Given the description of an element on the screen output the (x, y) to click on. 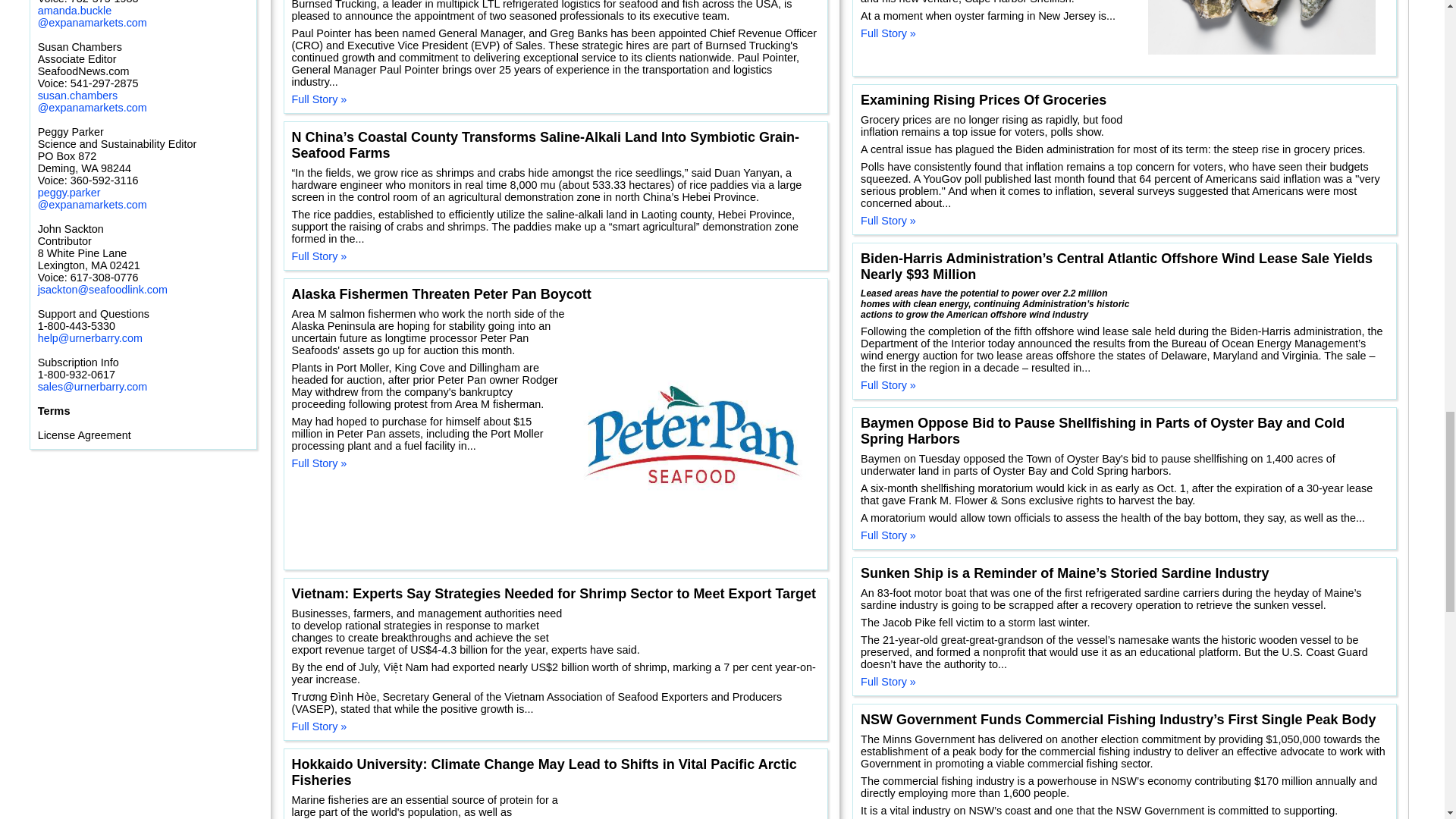
Market Story (224, 268)
Market Story (99, 112)
Market Story (113, 415)
Market Story (111, 552)
Market Story (223, 57)
Market Story (70, 524)
Market Story (173, 176)
Market Story (212, 579)
